Given the description of an element on the screen output the (x, y) to click on. 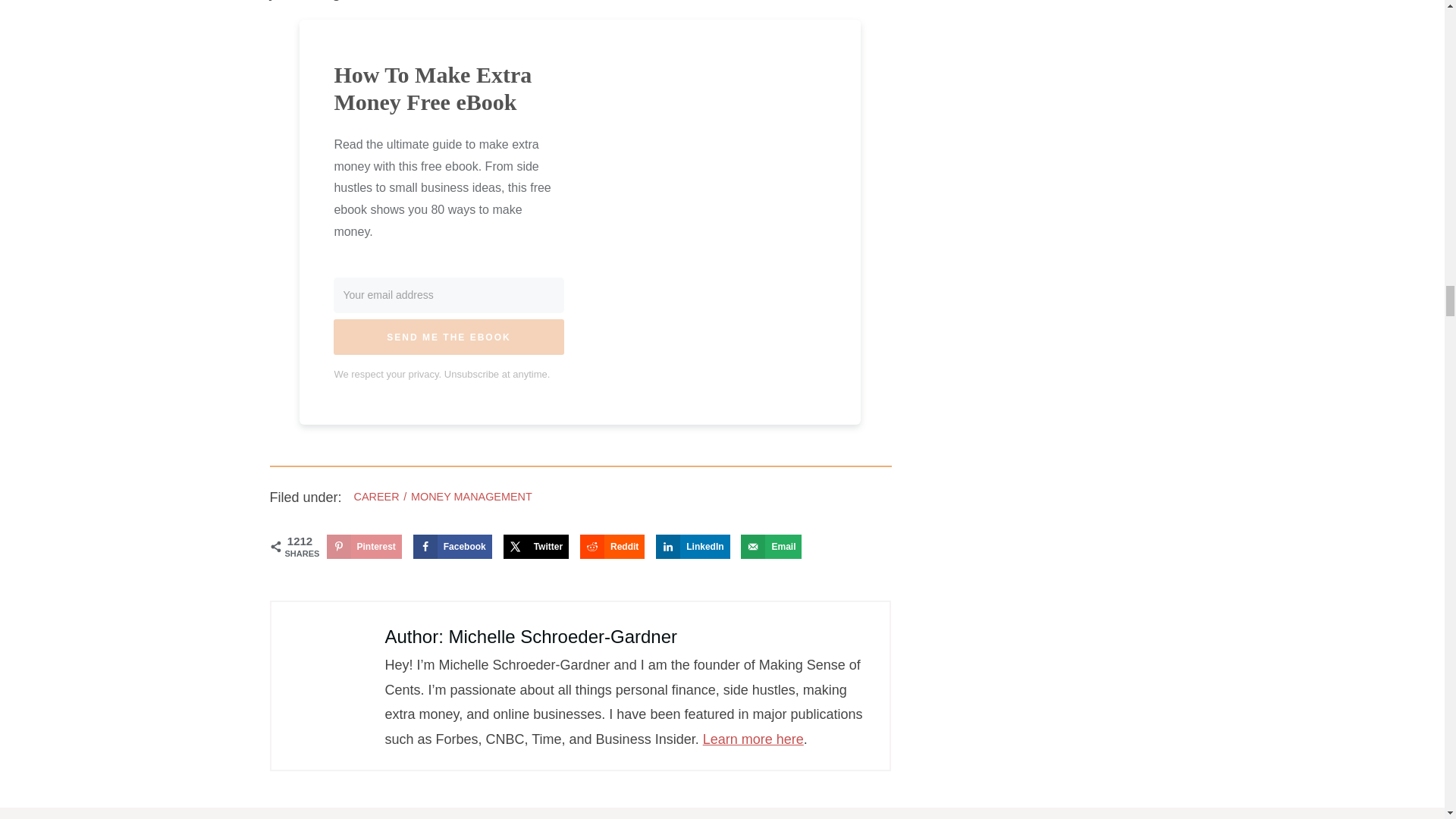
Share on Reddit (612, 546)
Pinterest (363, 546)
Learn more here (753, 739)
Share on LinkedIn (692, 546)
Share on X (536, 546)
Email (771, 546)
CAREER (375, 496)
Share on Facebook (452, 546)
Save to Pinterest (363, 546)
Twitter (536, 546)
